Given the description of an element on the screen output the (x, y) to click on. 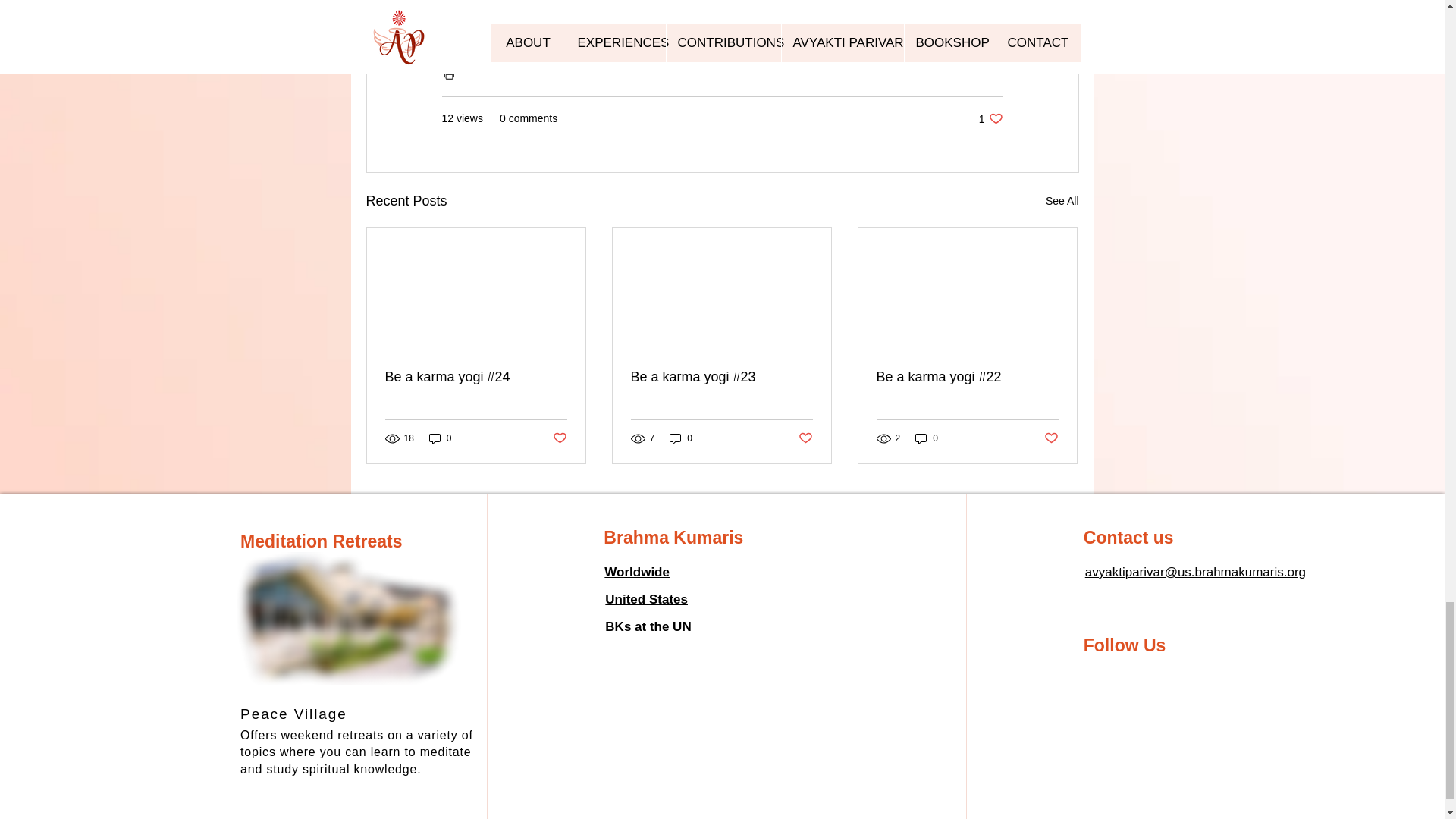
0 (681, 437)
0 (926, 437)
United States (646, 599)
See All (1061, 201)
Post not marked as liked (804, 438)
0 (990, 118)
BKs at the UN (440, 437)
Post not marked as liked (647, 626)
Post not marked as liked (1050, 438)
Worldwide (558, 438)
